Given the description of an element on the screen output the (x, y) to click on. 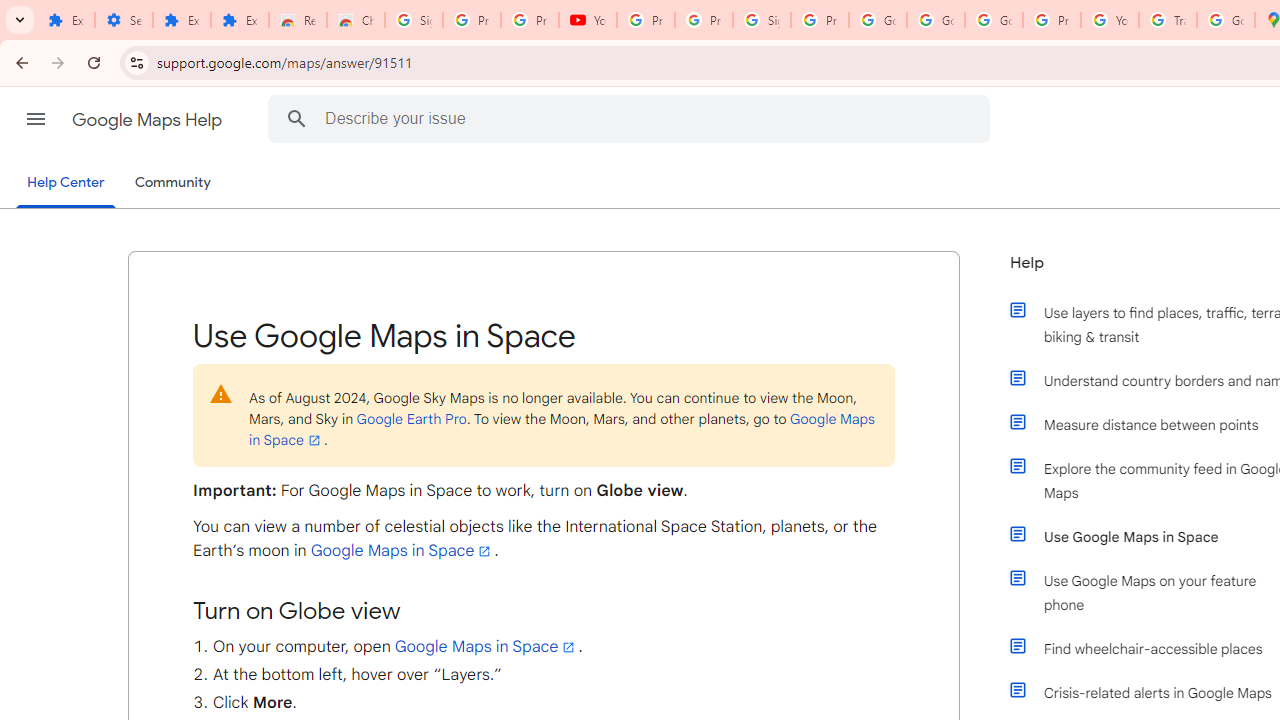
Chrome Web Store - Themes (355, 20)
Sign in - Google Accounts (762, 20)
Google Account (877, 20)
